Given the description of an element on the screen output the (x, y) to click on. 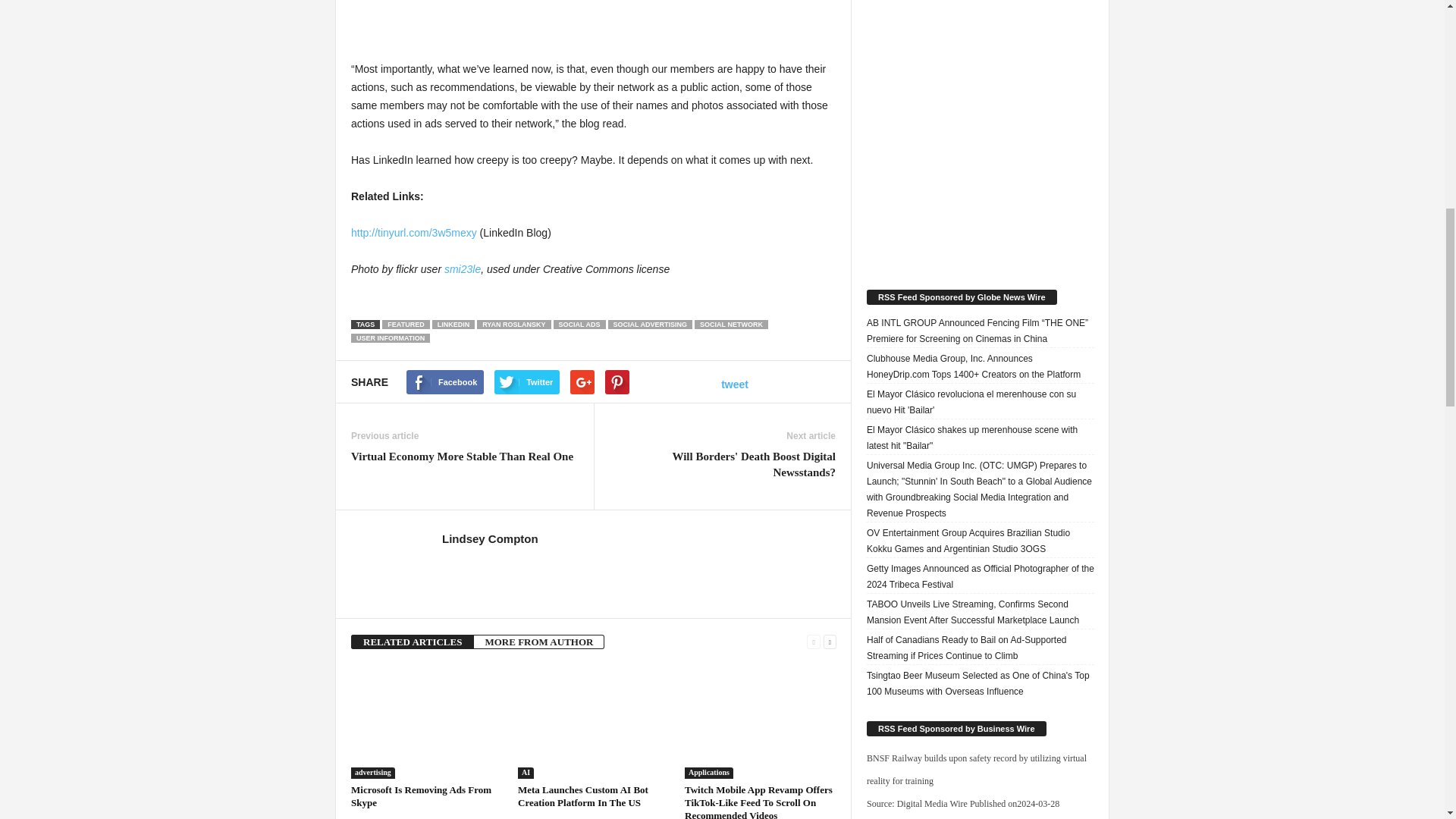
Microsoft Is Removing Ads From Skype (426, 721)
Microsoft Is Removing Ads From Skype (421, 795)
